Given the description of an element on the screen output the (x, y) to click on. 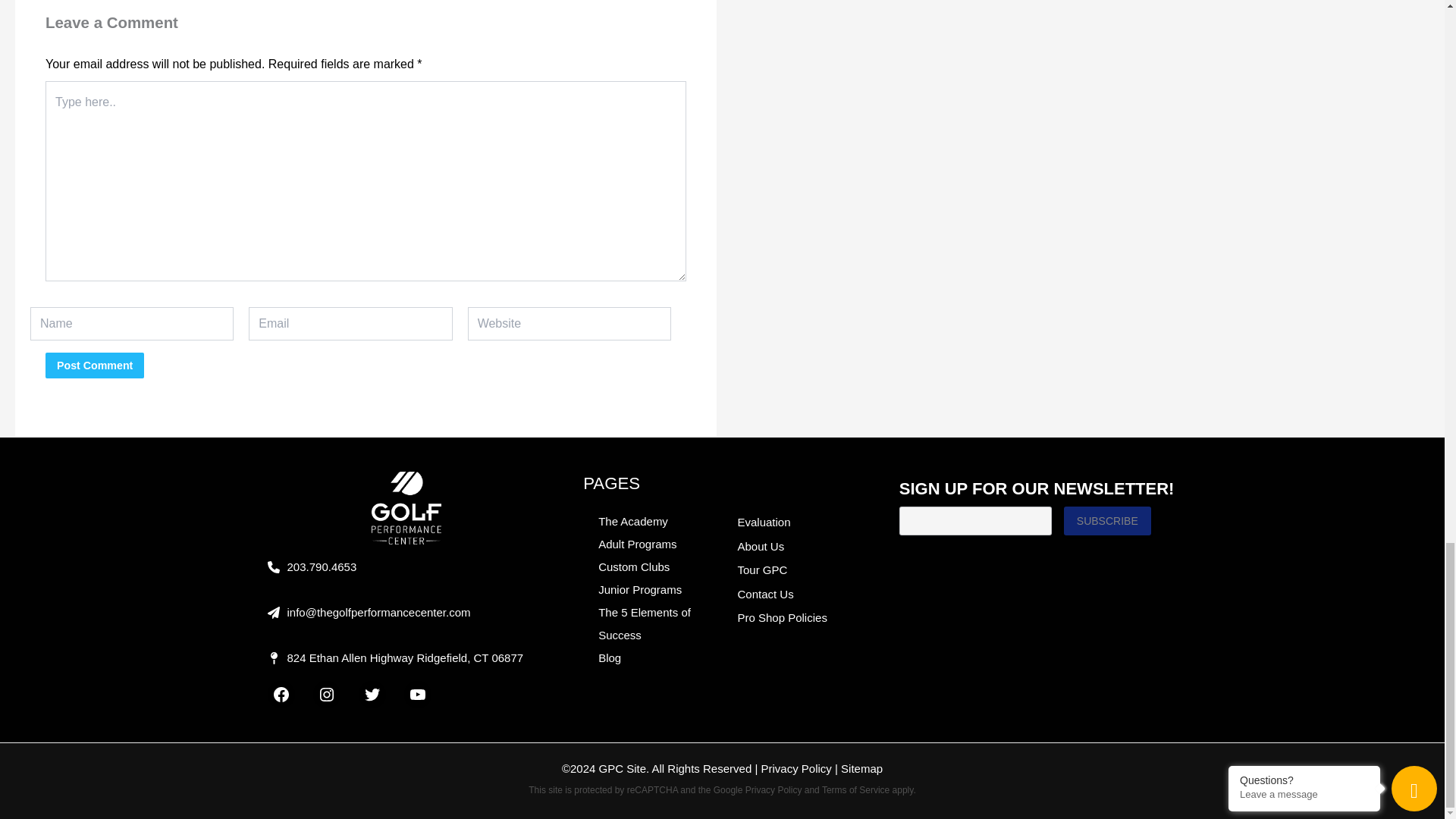
Post Comment (94, 365)
SUBSCRIBE (1107, 520)
